Given the description of an element on the screen output the (x, y) to click on. 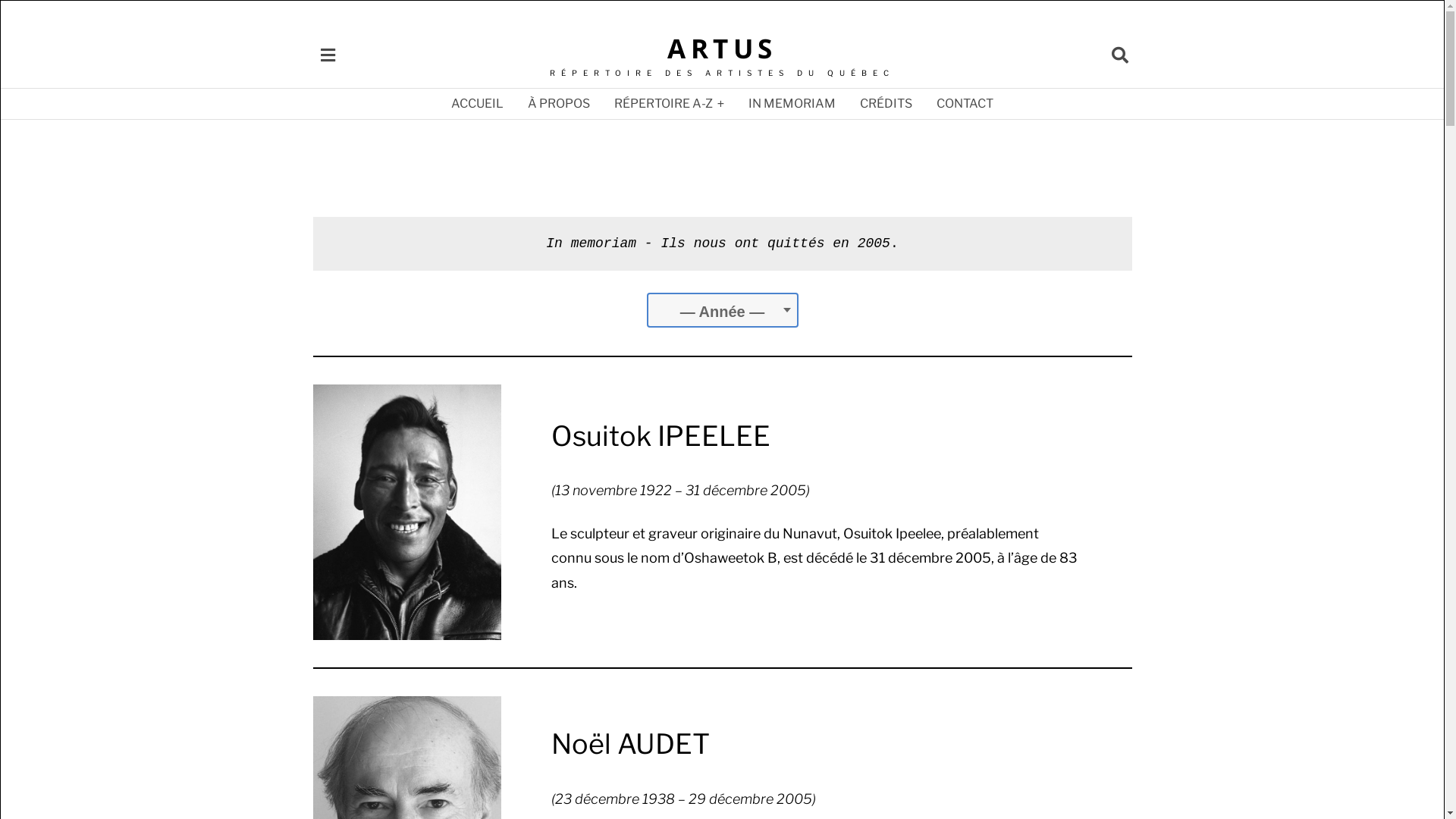
ARTUS Element type: text (721, 48)
Advertisement Element type: hover (721, 175)
CONTACT Element type: text (964, 102)
IN MEMORIAM Element type: text (791, 102)
ACCUEIL Element type: text (477, 102)
